Given the description of an element on the screen output the (x, y) to click on. 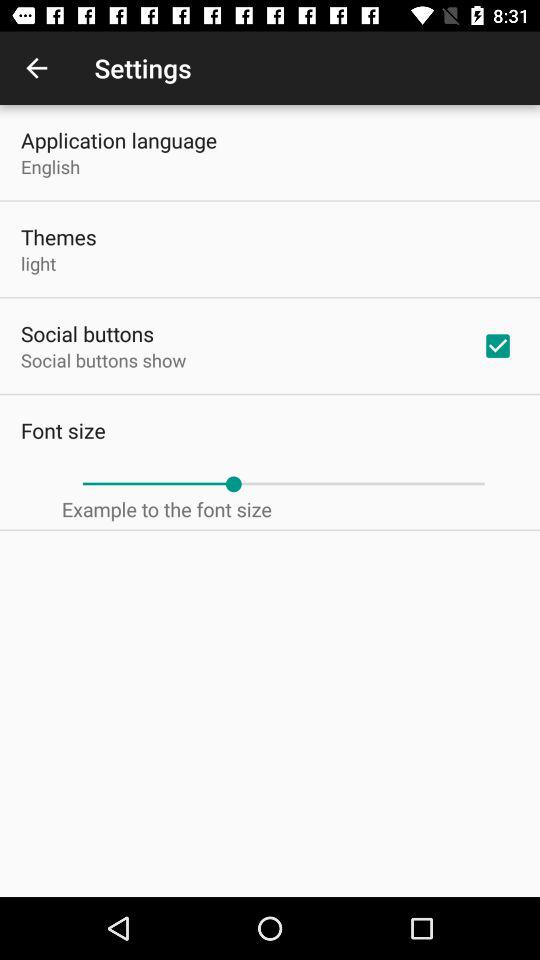
click item next to the social buttons show item (497, 346)
